Given the description of an element on the screen output the (x, y) to click on. 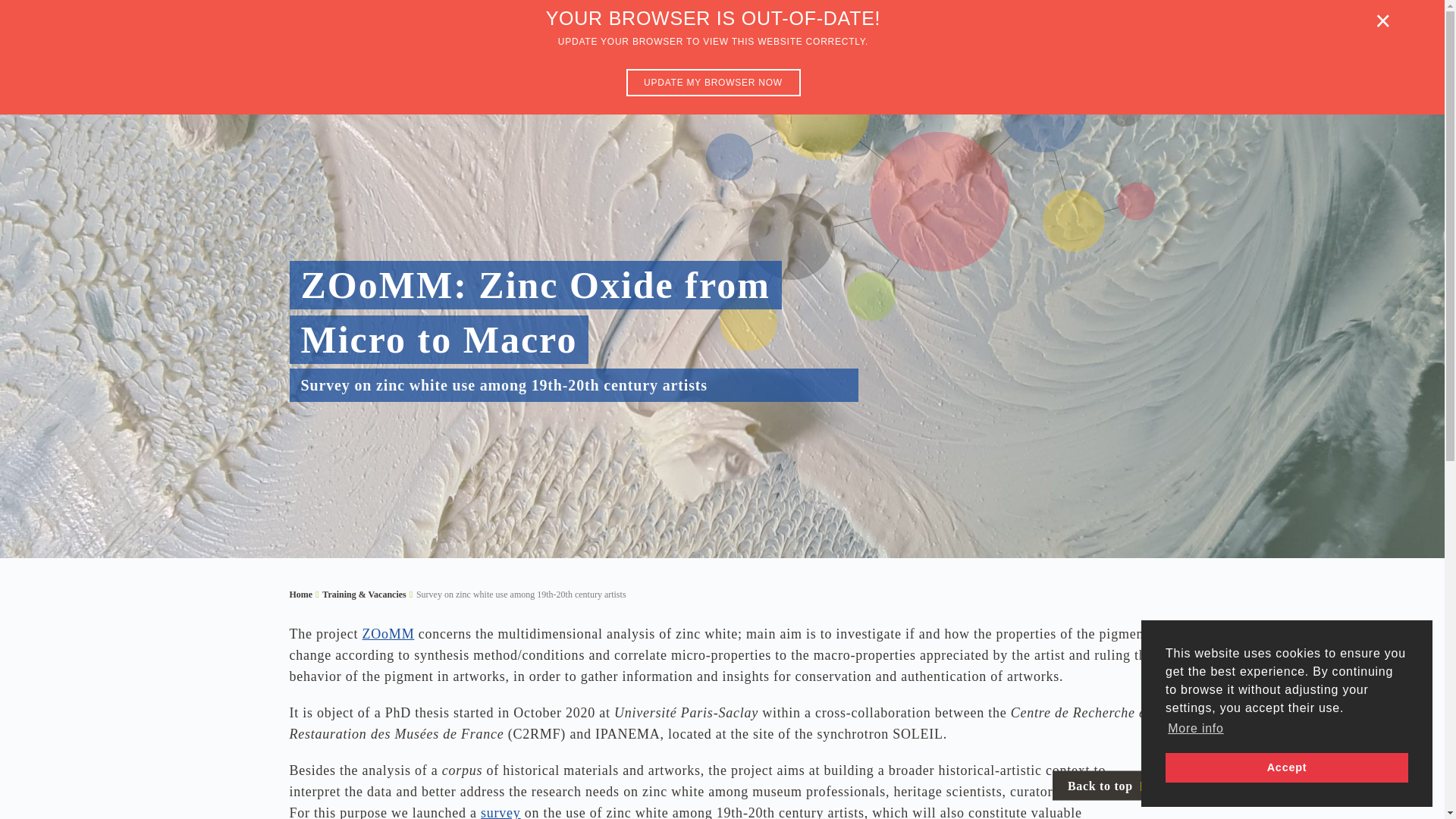
Resources (1024, 51)
Heritage Research Community (519, 51)
JPI CH (650, 51)
Close (1382, 21)
More info (1195, 728)
ARCHE (730, 51)
Accept (1286, 767)
Home (301, 594)
ZOoMM (388, 633)
Heritage Projects (828, 51)
Back to top (1106, 785)
survey (500, 812)
